Given the description of an element on the screen output the (x, y) to click on. 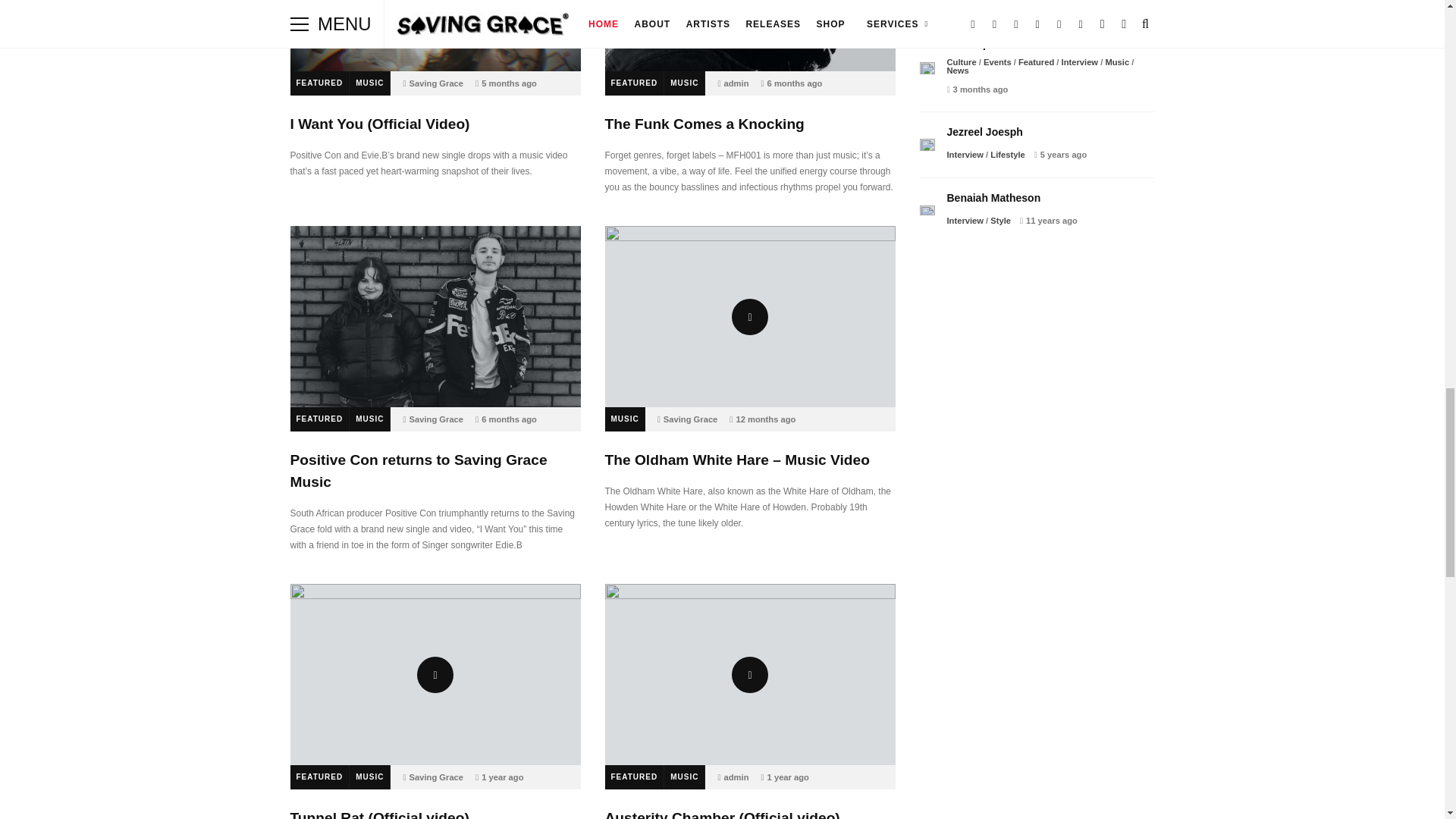
Posts by Saving Grace (690, 419)
Posts by admin (736, 82)
Posts by Saving Grace (436, 419)
Posts by Saving Grace (436, 777)
Posts by Saving Grace (436, 82)
Posts by admin (736, 777)
